Given the description of an element on the screen output the (x, y) to click on. 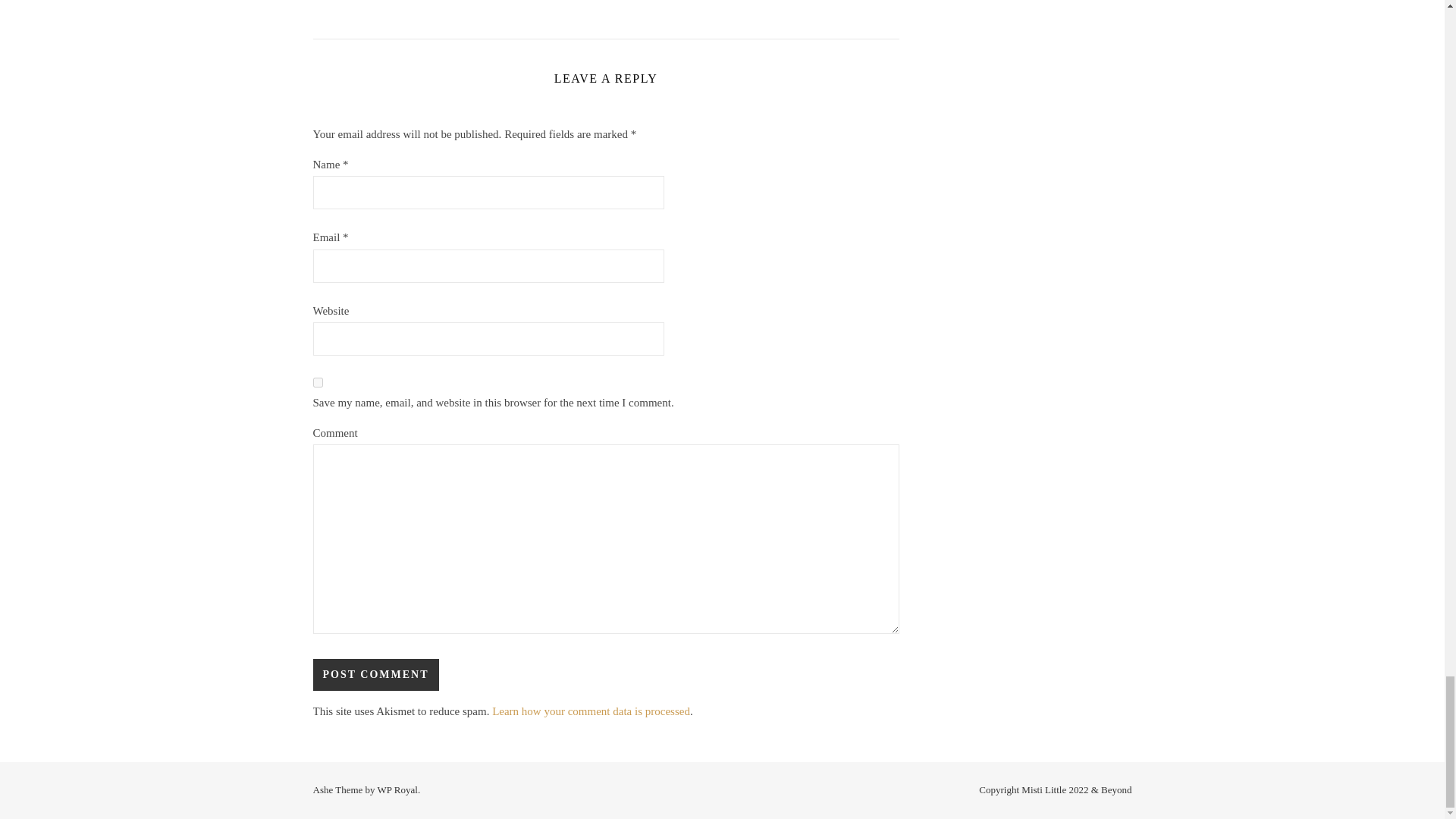
Post Comment (375, 675)
yes (317, 382)
Learn how your comment data is processed (591, 711)
Post Comment (375, 675)
